Given the description of an element on the screen output the (x, y) to click on. 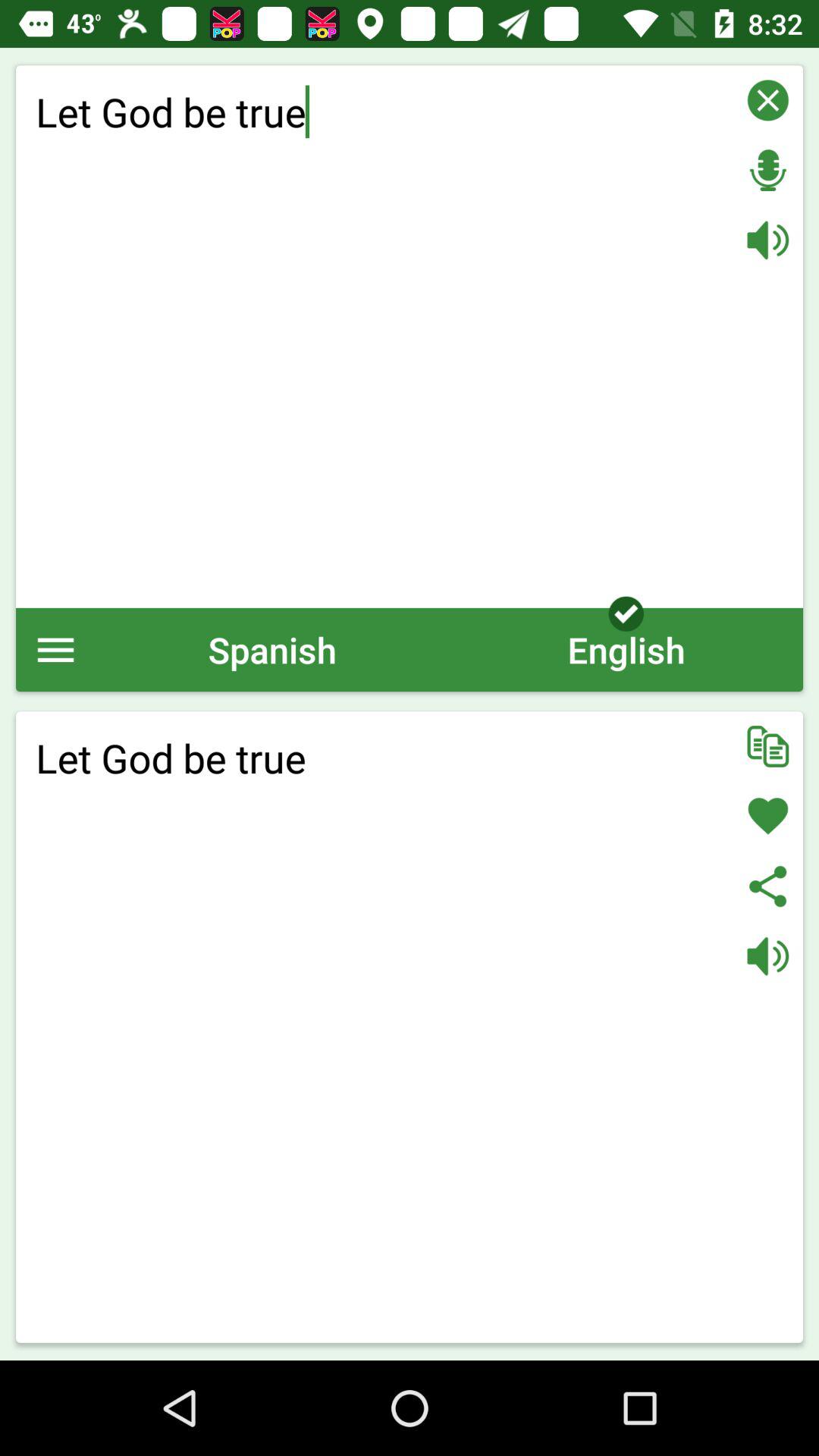
copy text (768, 746)
